Given the description of an element on the screen output the (x, y) to click on. 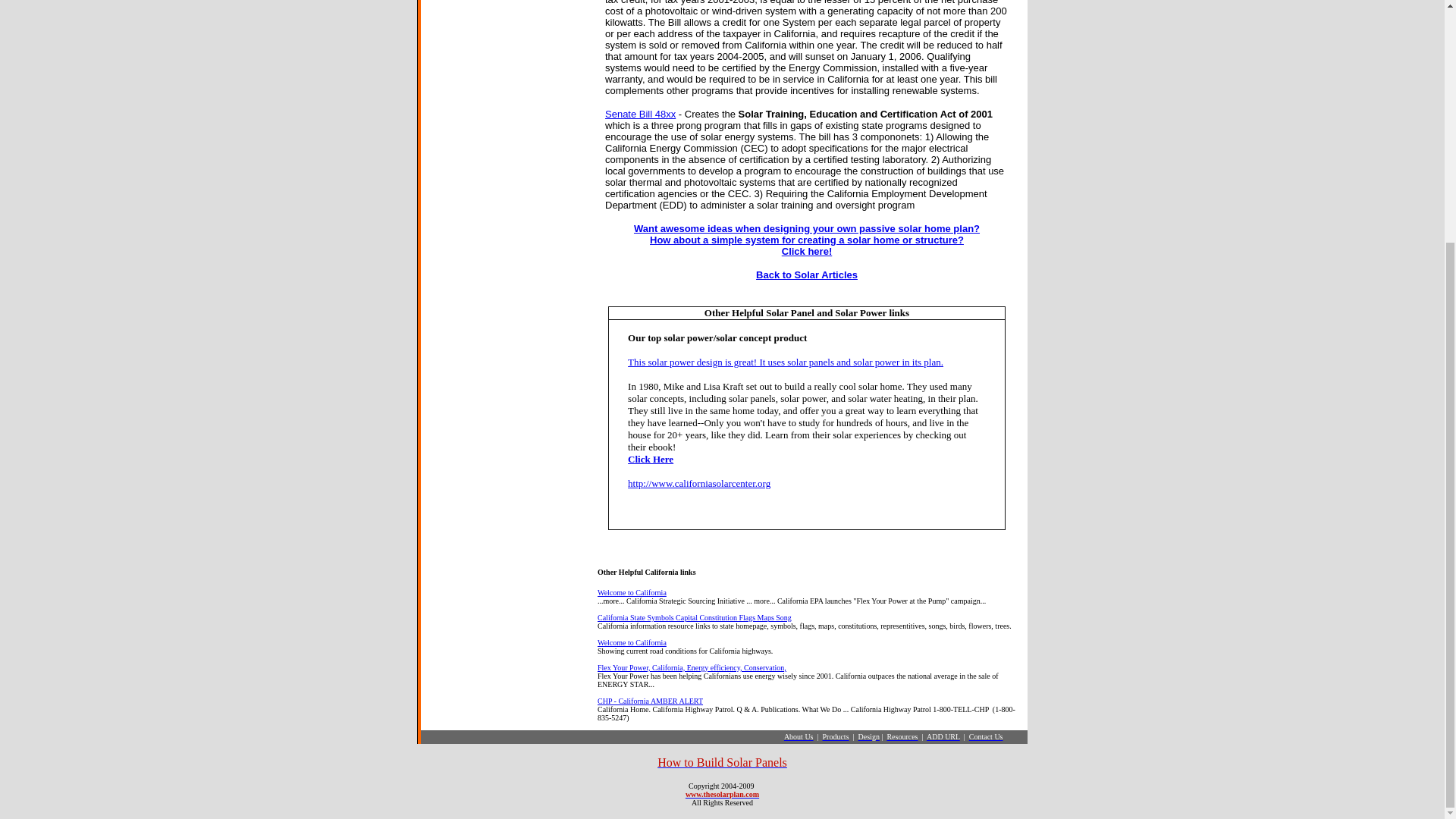
How To Build Solar Panels (722, 762)
Resources (901, 736)
CHP - California AMBER ALERT (649, 700)
solar panels and solar power plans (806, 239)
Using solar energy - solar panels and solar power plans (721, 794)
Design (869, 736)
Welcome to California (631, 592)
